Given the description of an element on the screen output the (x, y) to click on. 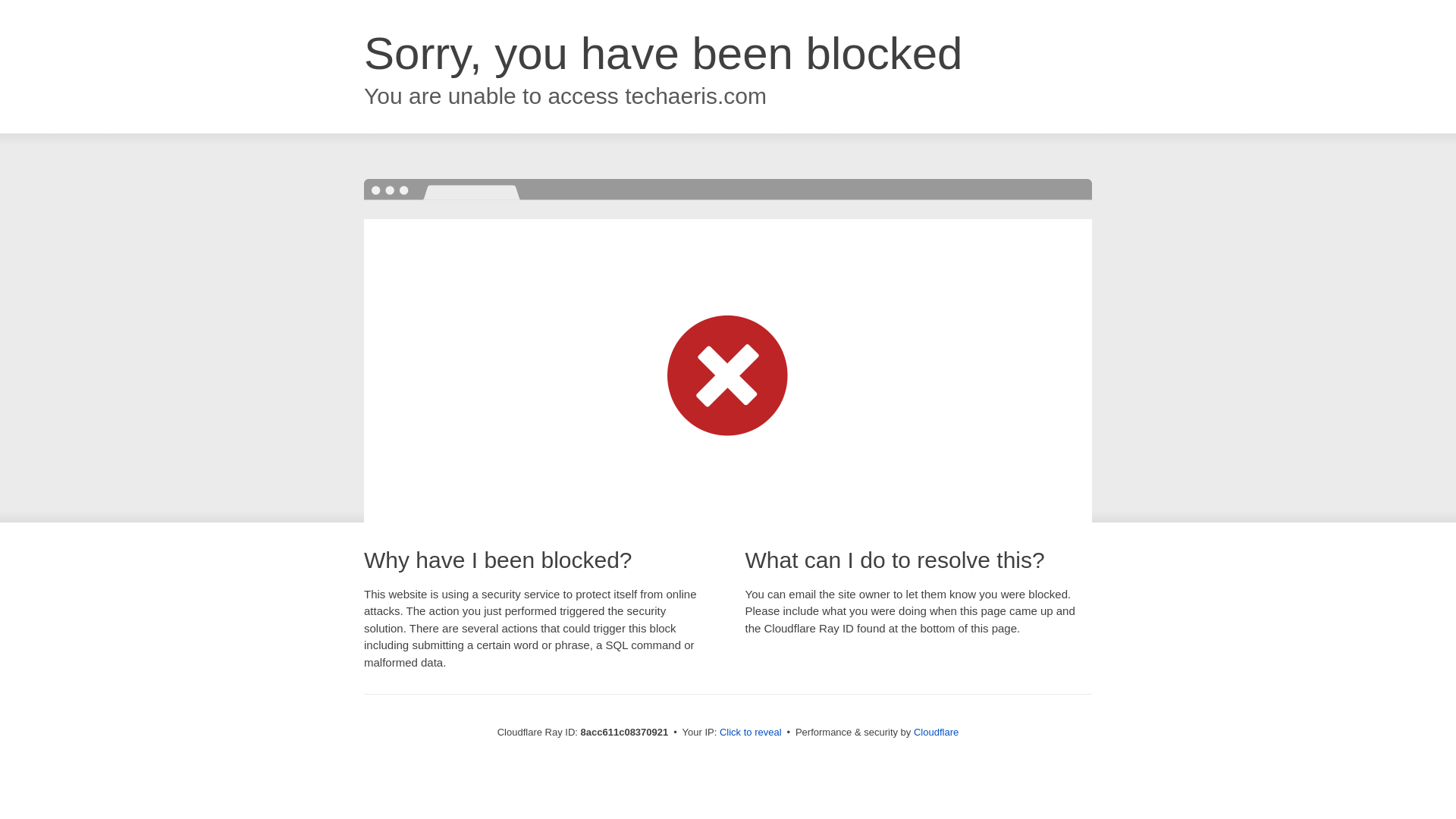
Click to reveal (750, 732)
Cloudflare (936, 731)
